Given the description of an element on the screen output the (x, y) to click on. 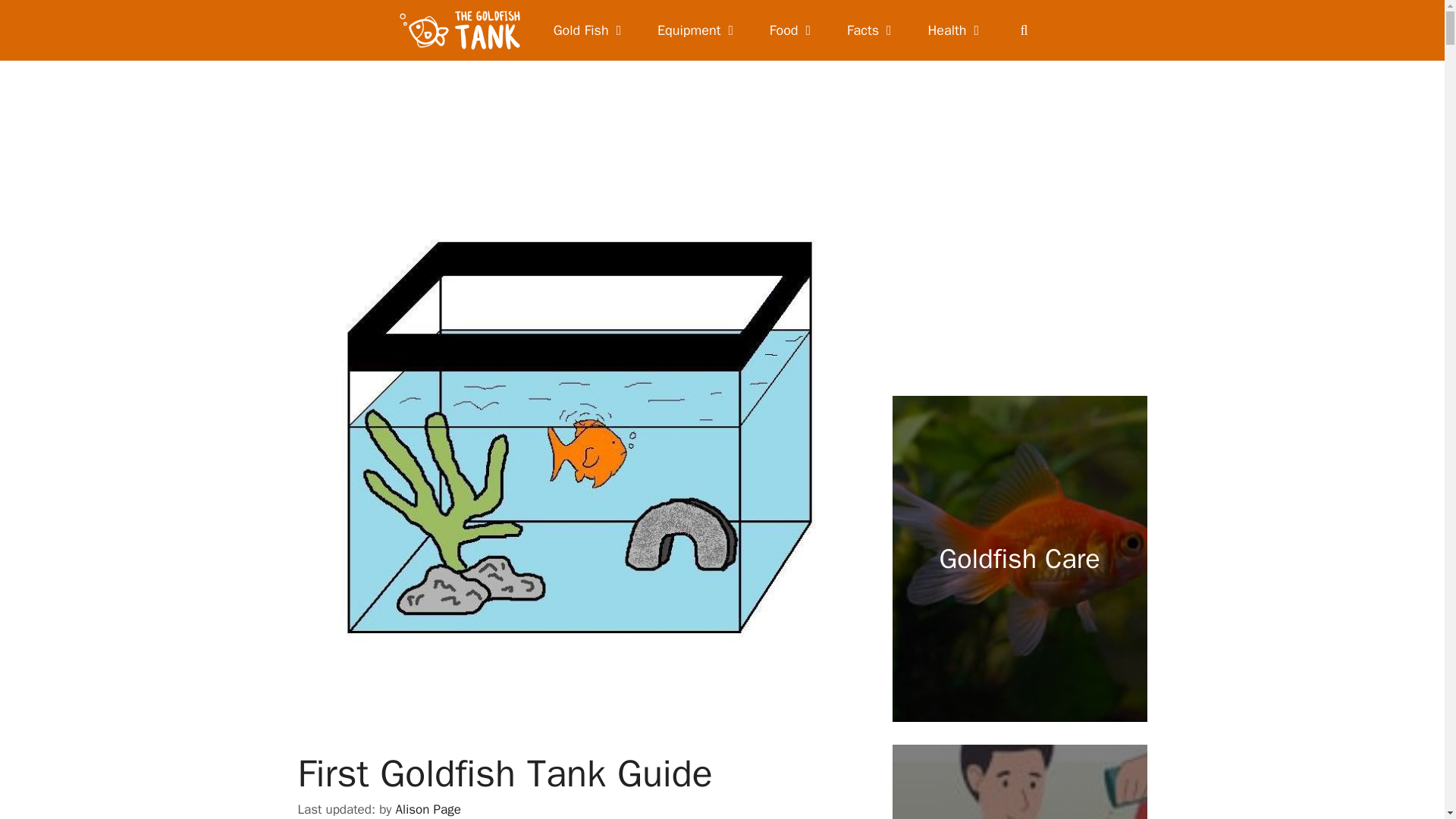
View all posts by Alison Page (428, 808)
Goldfish Facts (871, 30)
Gold Fish (590, 30)
The Goldfish Tank (459, 30)
Food (792, 30)
The Goldfish Tank (463, 30)
Equipment (698, 30)
Facts (871, 30)
